Given the description of an element on the screen output the (x, y) to click on. 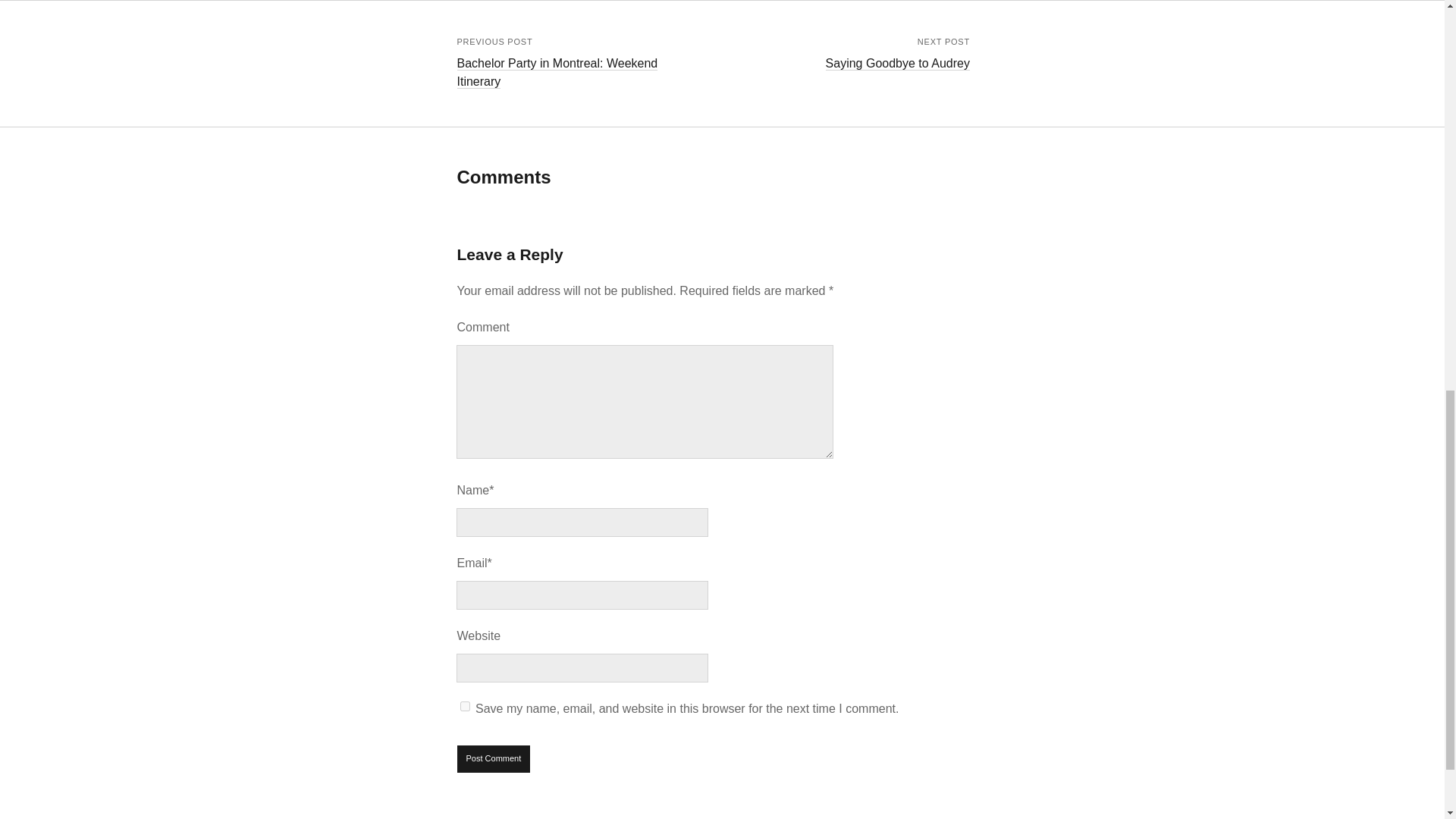
yes (465, 706)
Post Comment (494, 759)
